Given the description of an element on the screen output the (x, y) to click on. 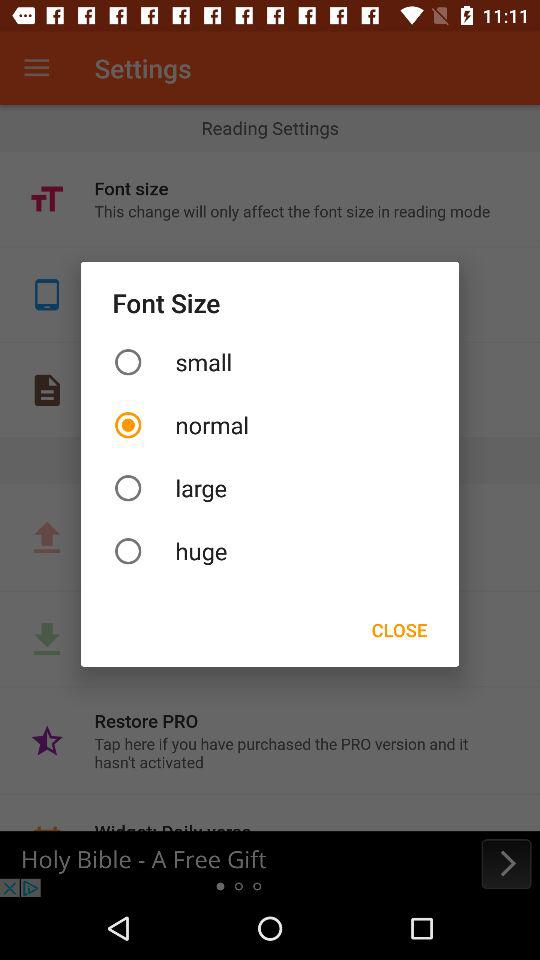
select item above large (270, 424)
